Given the description of an element on the screen output the (x, y) to click on. 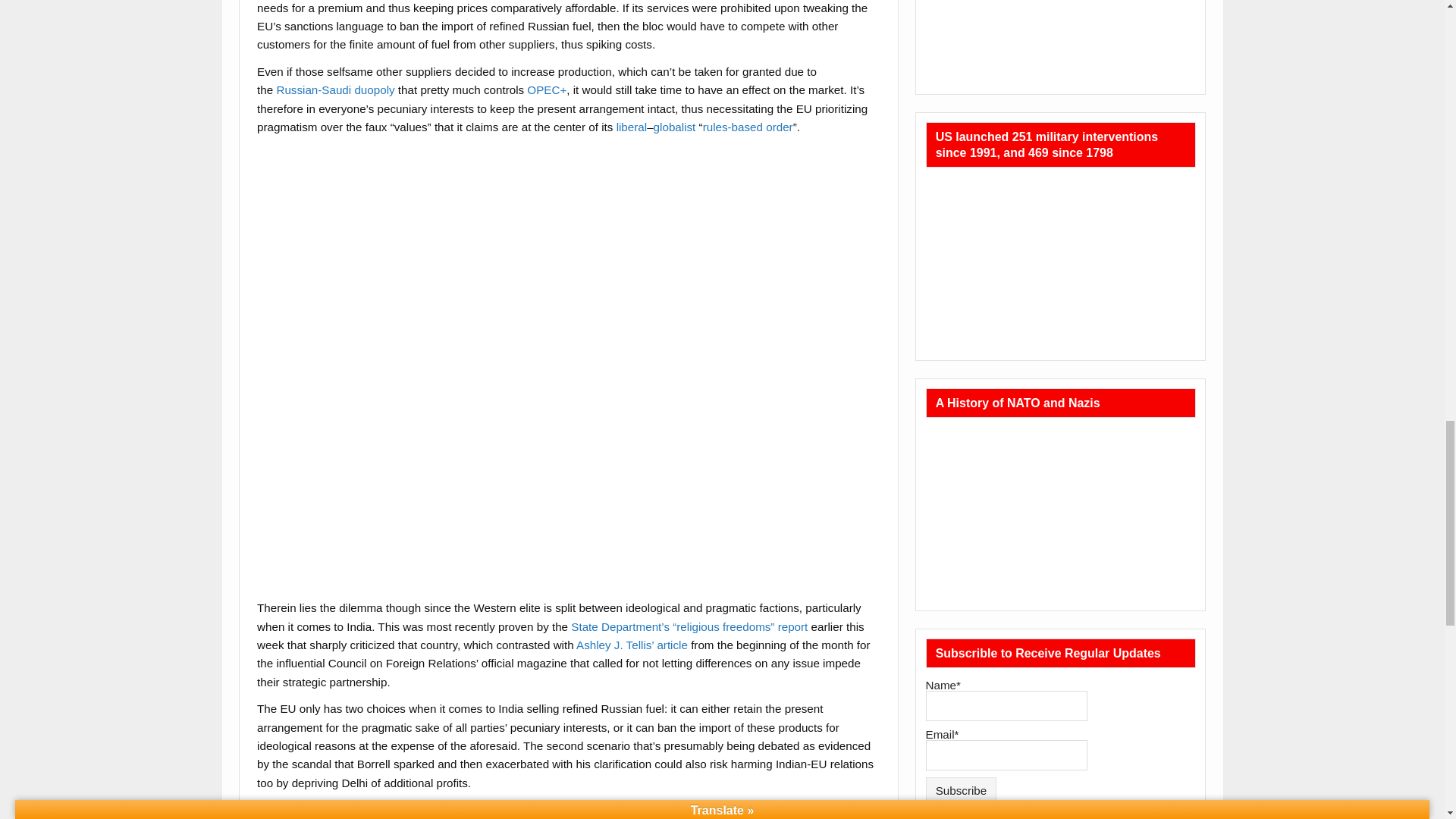
Subscribe (961, 790)
rules-based order (748, 126)
globalist (674, 126)
Russian-Saudi duopoly (335, 89)
liberal (631, 126)
